Given the description of an element on the screen output the (x, y) to click on. 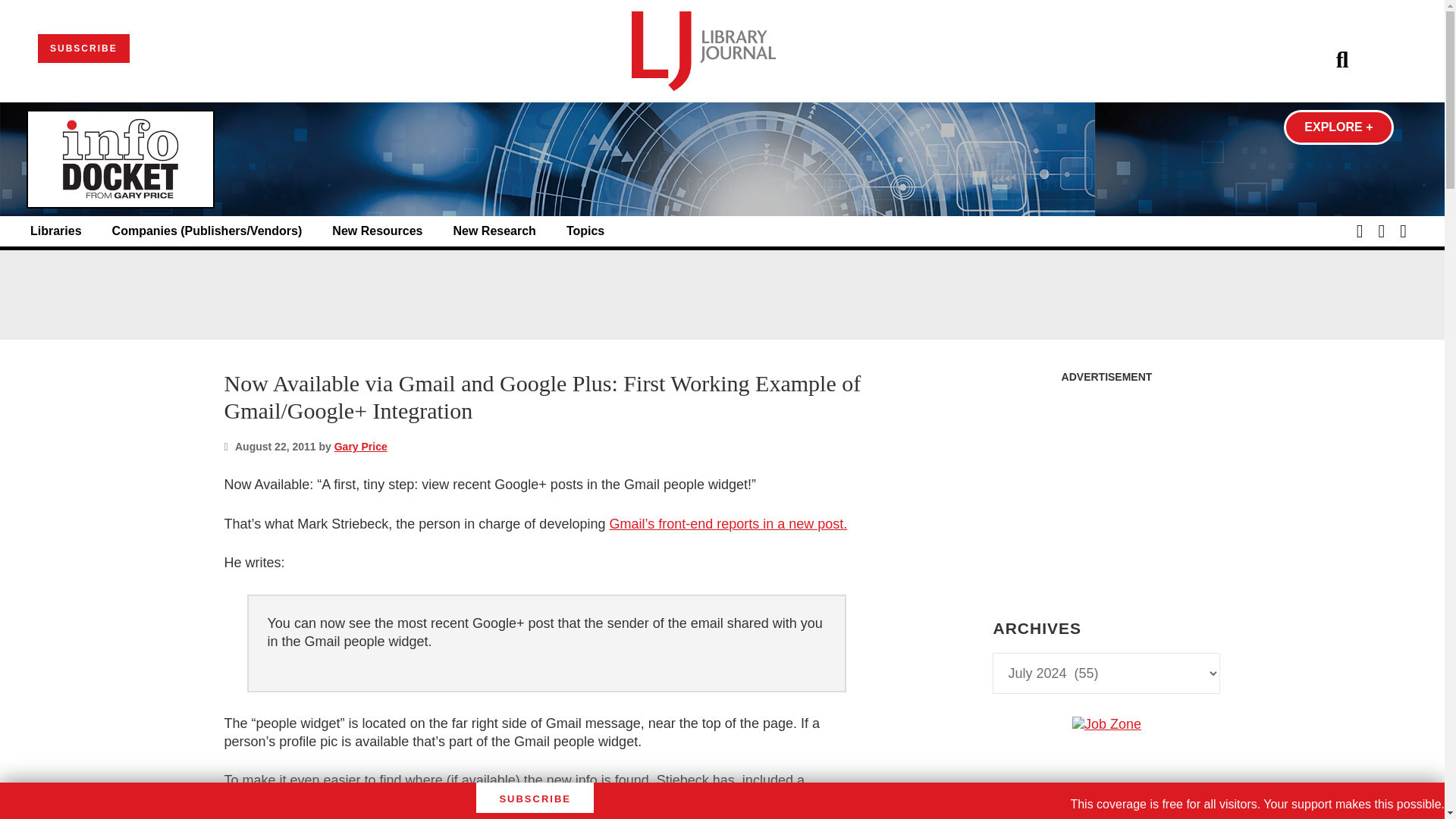
Libraries (55, 231)
New Resources (376, 231)
SUBSCRIBE (83, 48)
3rd party ad content (1106, 485)
3rd party ad content (721, 294)
3rd party ad content (1106, 816)
